Given the description of an element on the screen output the (x, y) to click on. 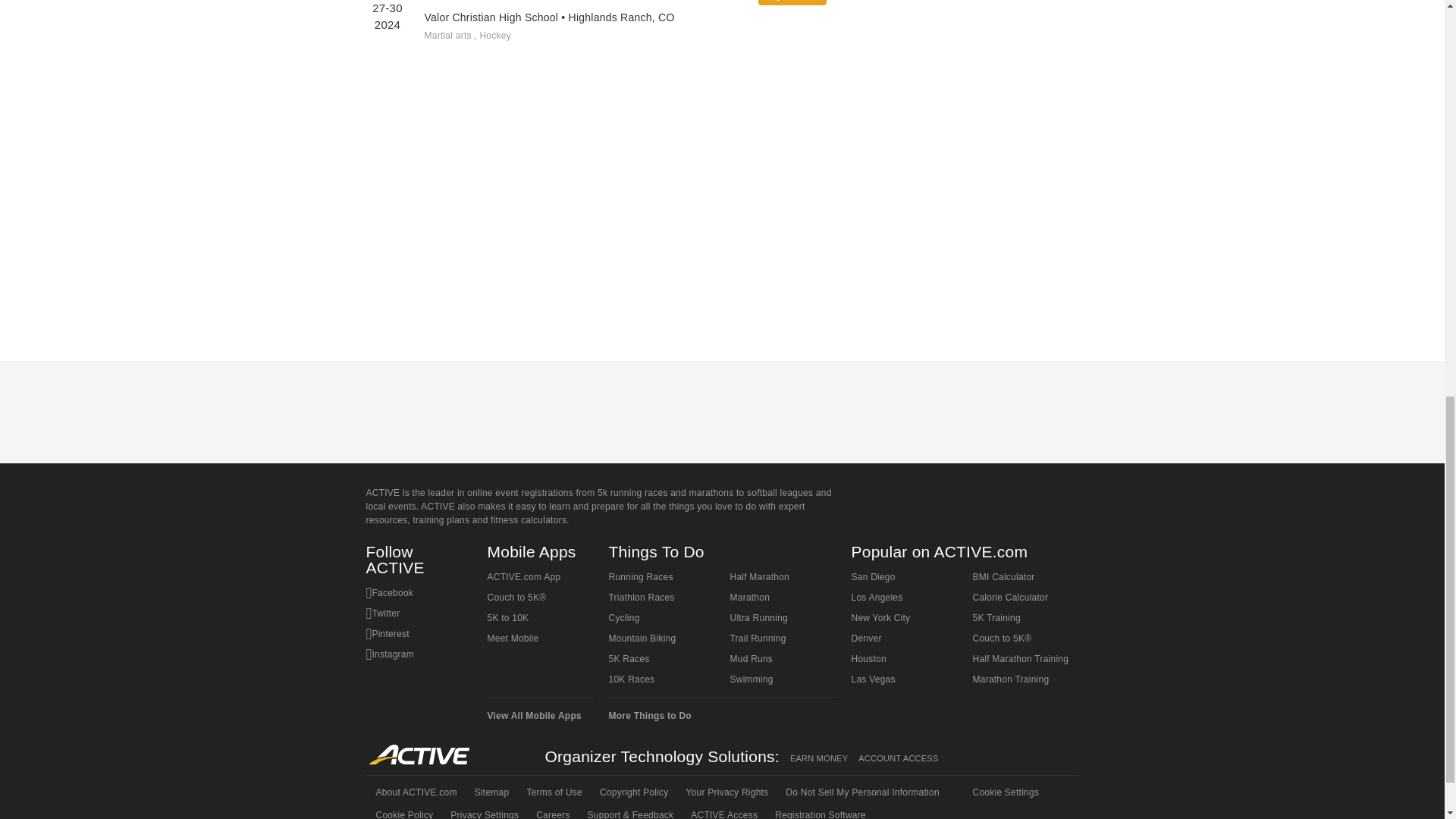
Privacy Settings (483, 811)
Terms of Use (552, 792)
Do Not Sell My Personal Information (861, 792)
Your Privacy Rights: Updated (726, 792)
Cookie Policy (403, 811)
Copyright Policy (633, 792)
